Given the description of an element on the screen output the (x, y) to click on. 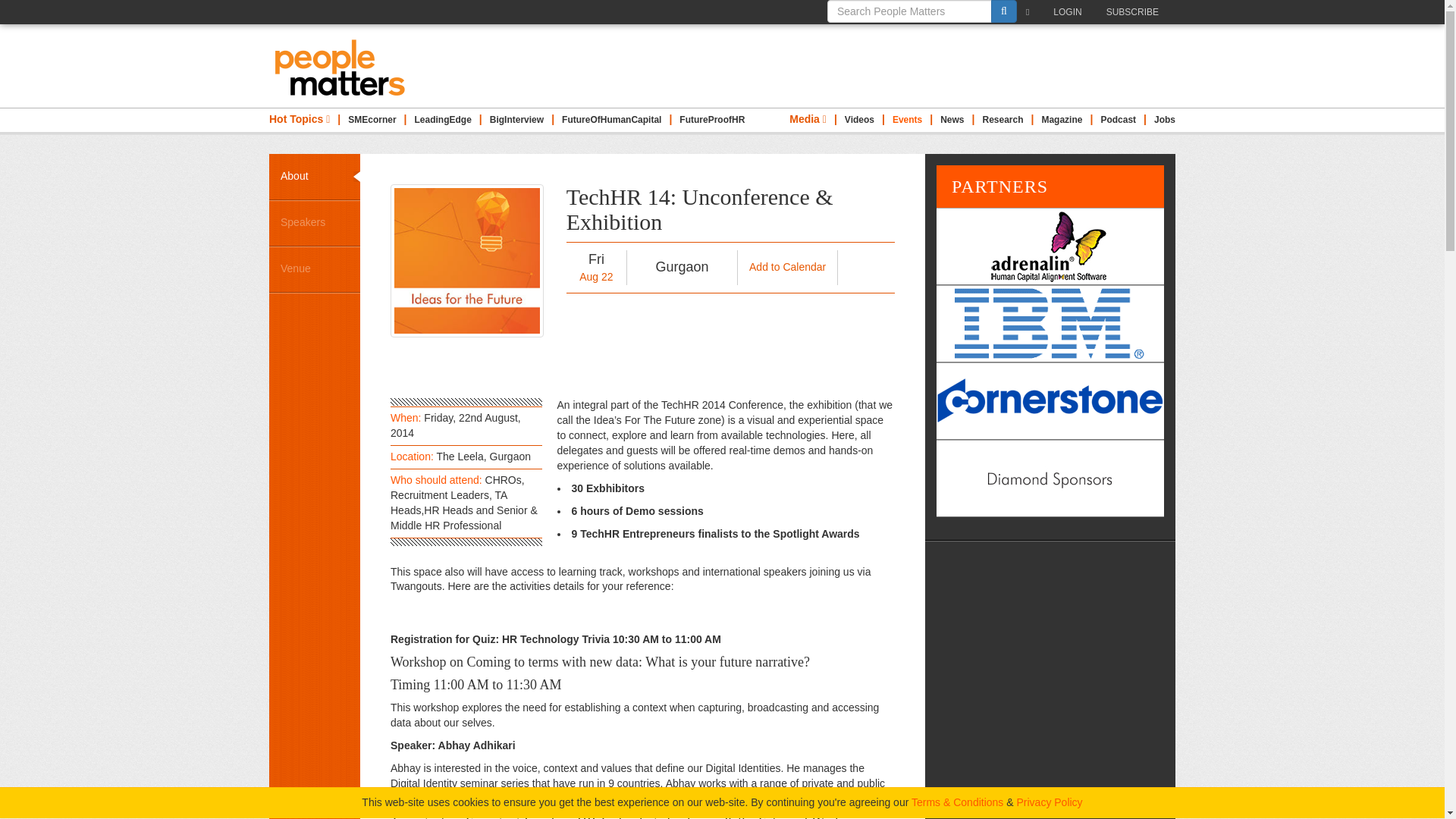
SUBSCRIBE (1136, 12)
Friday, 22nd August, 2014 (596, 267)
Subscribe to our newsletter (1030, 12)
FutureOfHumanCapital (611, 119)
Videos (859, 119)
LOGIN (1070, 12)
LeadingEdge (442, 119)
Research (1002, 119)
BigInterview (516, 119)
Podcast (1117, 119)
